Given the description of an element on the screen output the (x, y) to click on. 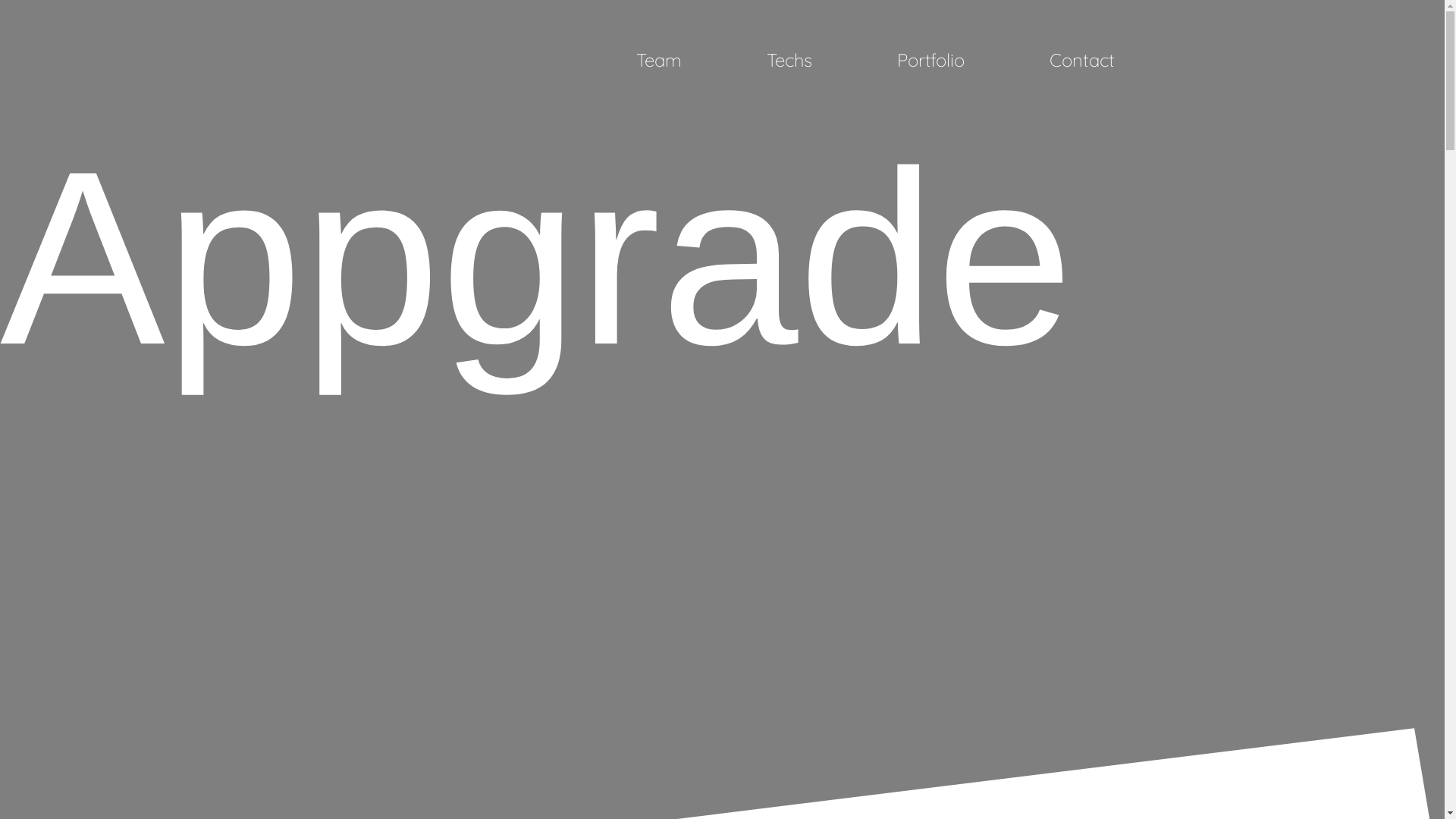
Portfolio Element type: text (930, 59)
Team Element type: text (658, 59)
Contact Element type: text (1081, 59)
Techs Element type: text (789, 59)
